Given the description of an element on the screen output the (x, y) to click on. 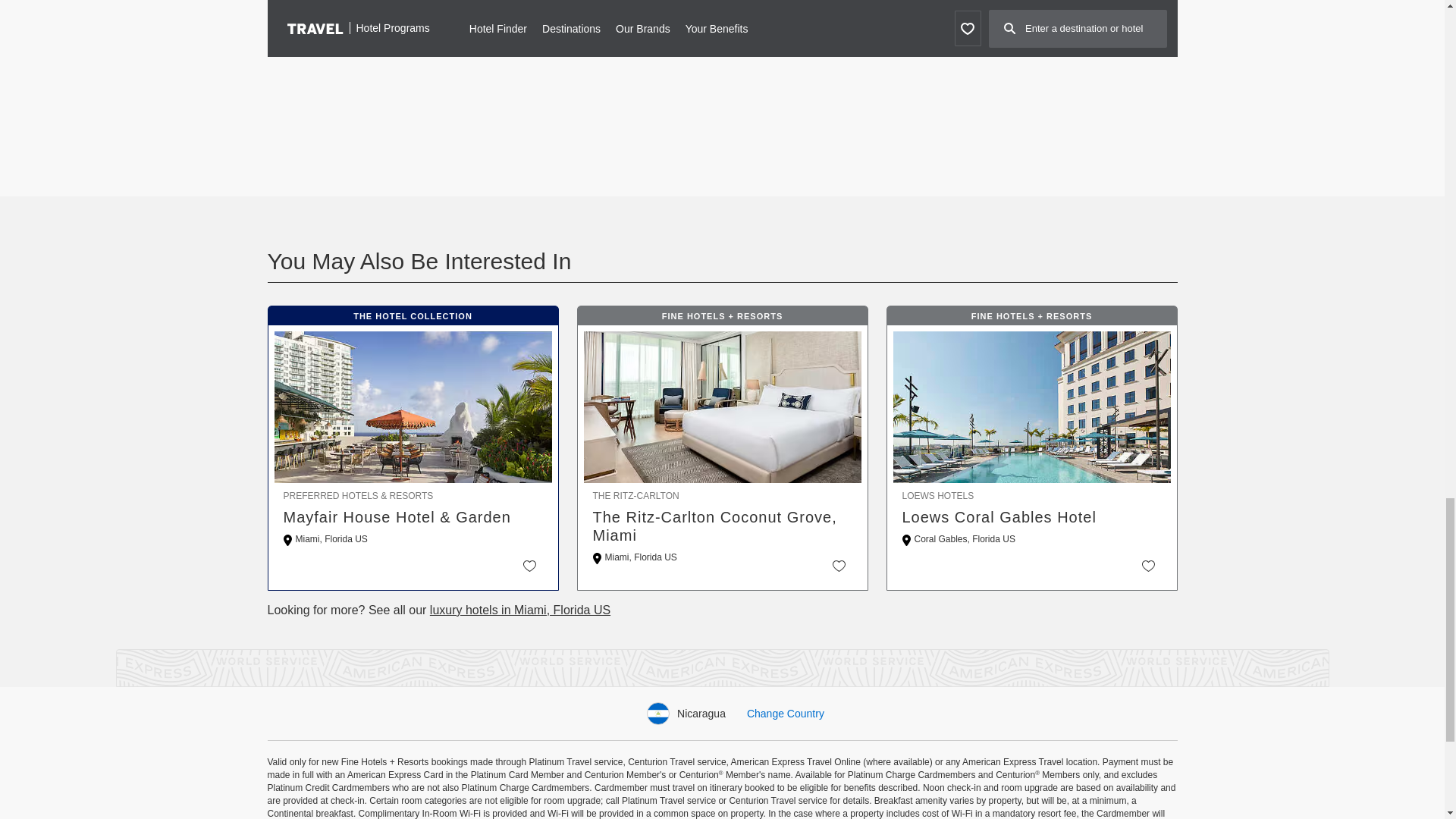
Change Country (785, 713)
luxury hotels in Miami, Florida US (519, 609)
The Ritz-Carlton Coconut Grove, Miami (721, 525)
Loews Coral Gables Hotel (1031, 516)
